Given the description of an element on the screen output the (x, y) to click on. 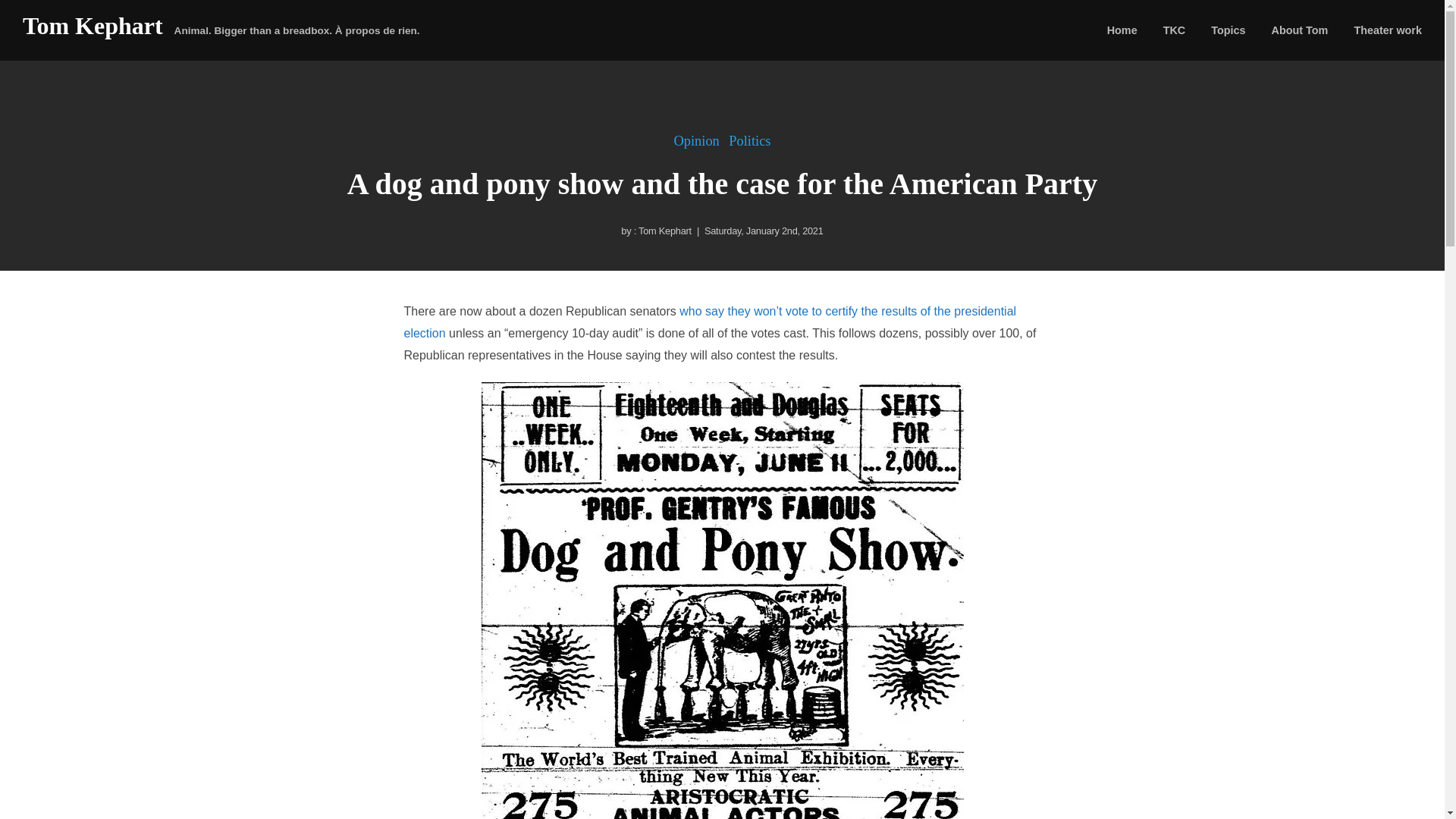
Theater work (1388, 30)
Tom Kephart (93, 25)
About Tom (1299, 30)
Opinion (696, 140)
Saturday, January 2nd, 2021 (764, 230)
Tom Kephart (663, 230)
Politics (749, 140)
